Given the description of an element on the screen output the (x, y) to click on. 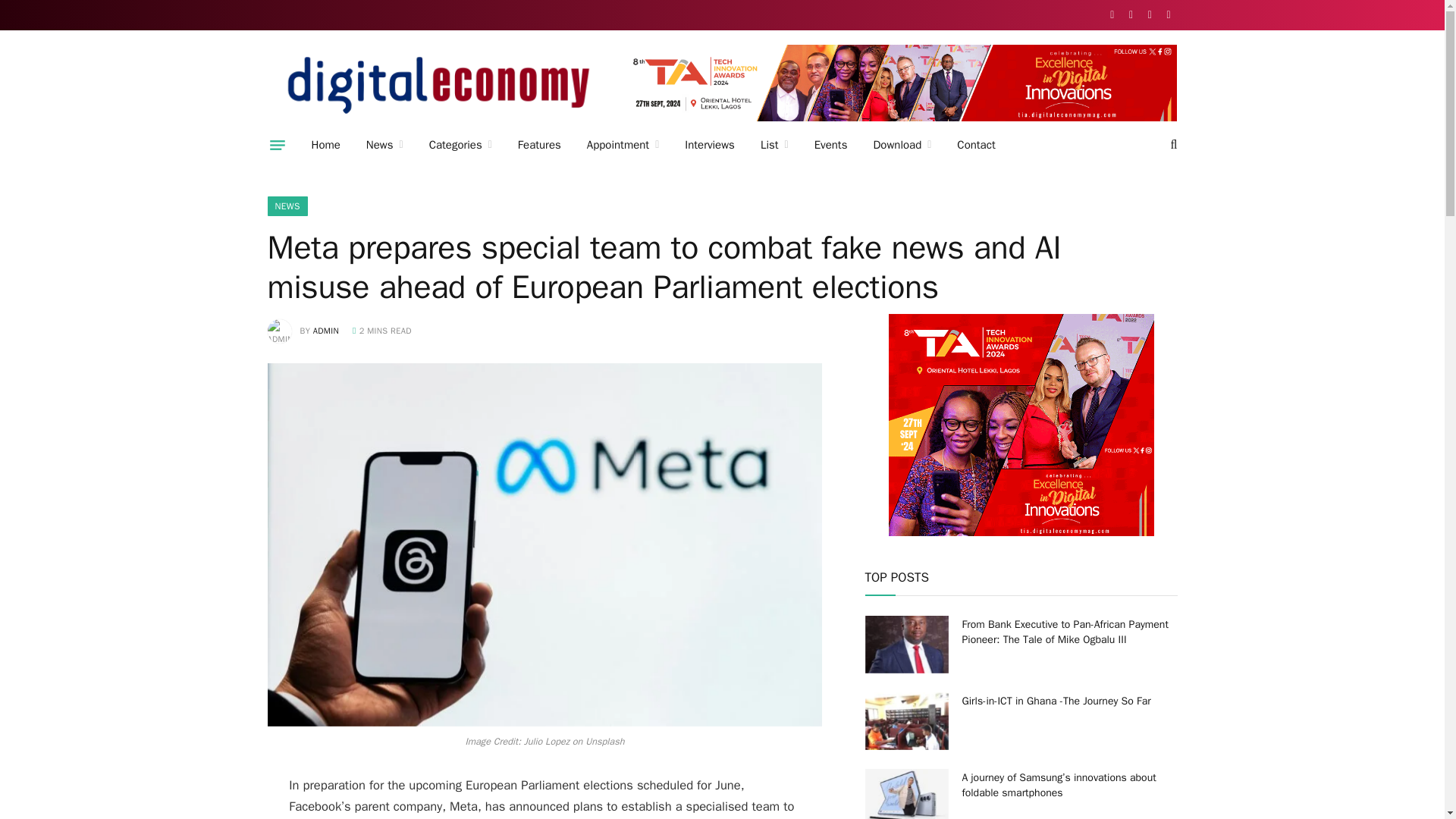
Digital Economy (438, 84)
Home (325, 144)
News (384, 144)
Categories (460, 144)
